Given the description of an element on the screen output the (x, y) to click on. 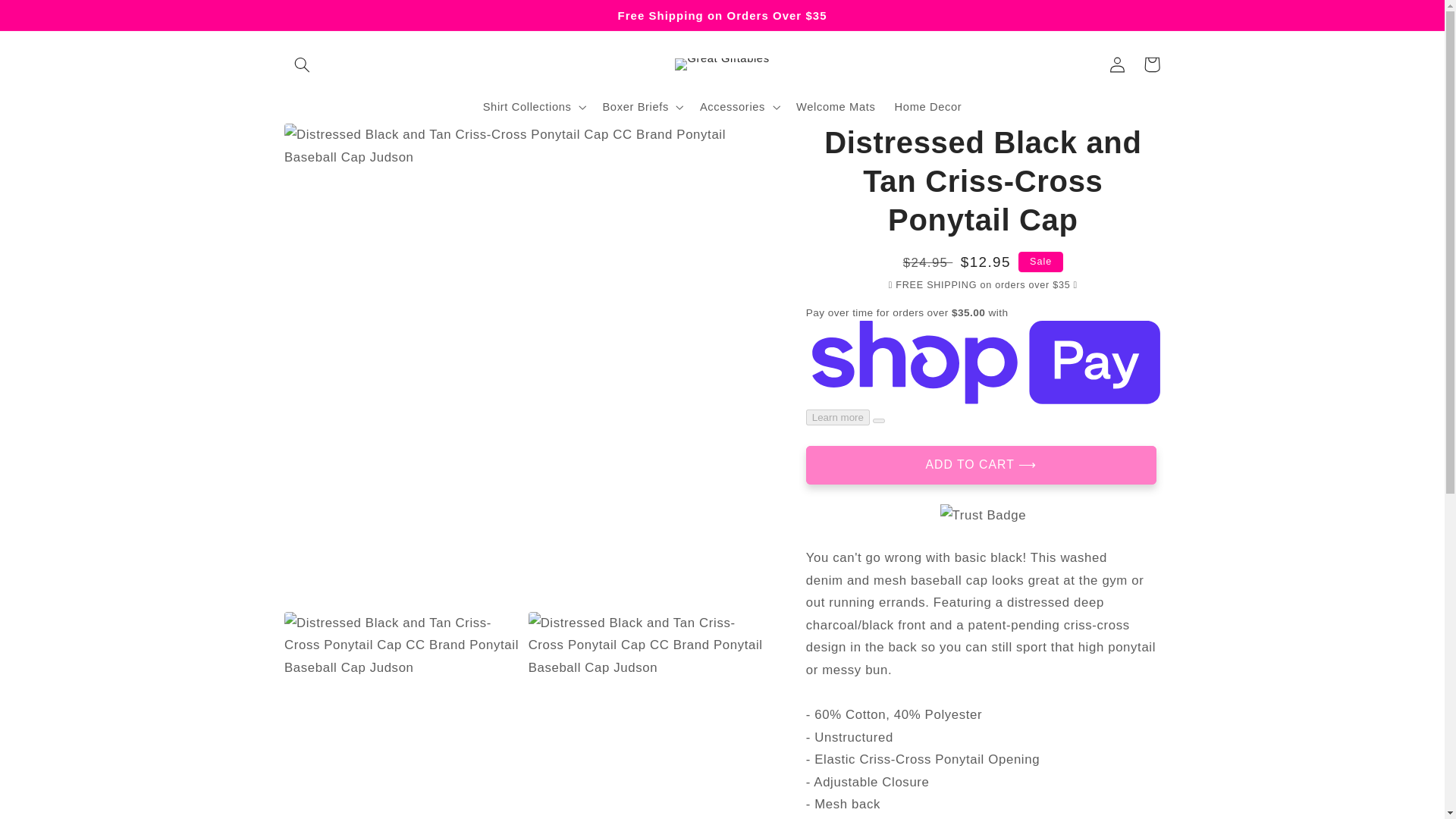
Skip to content (48, 18)
